Given the description of an element on the screen output the (x, y) to click on. 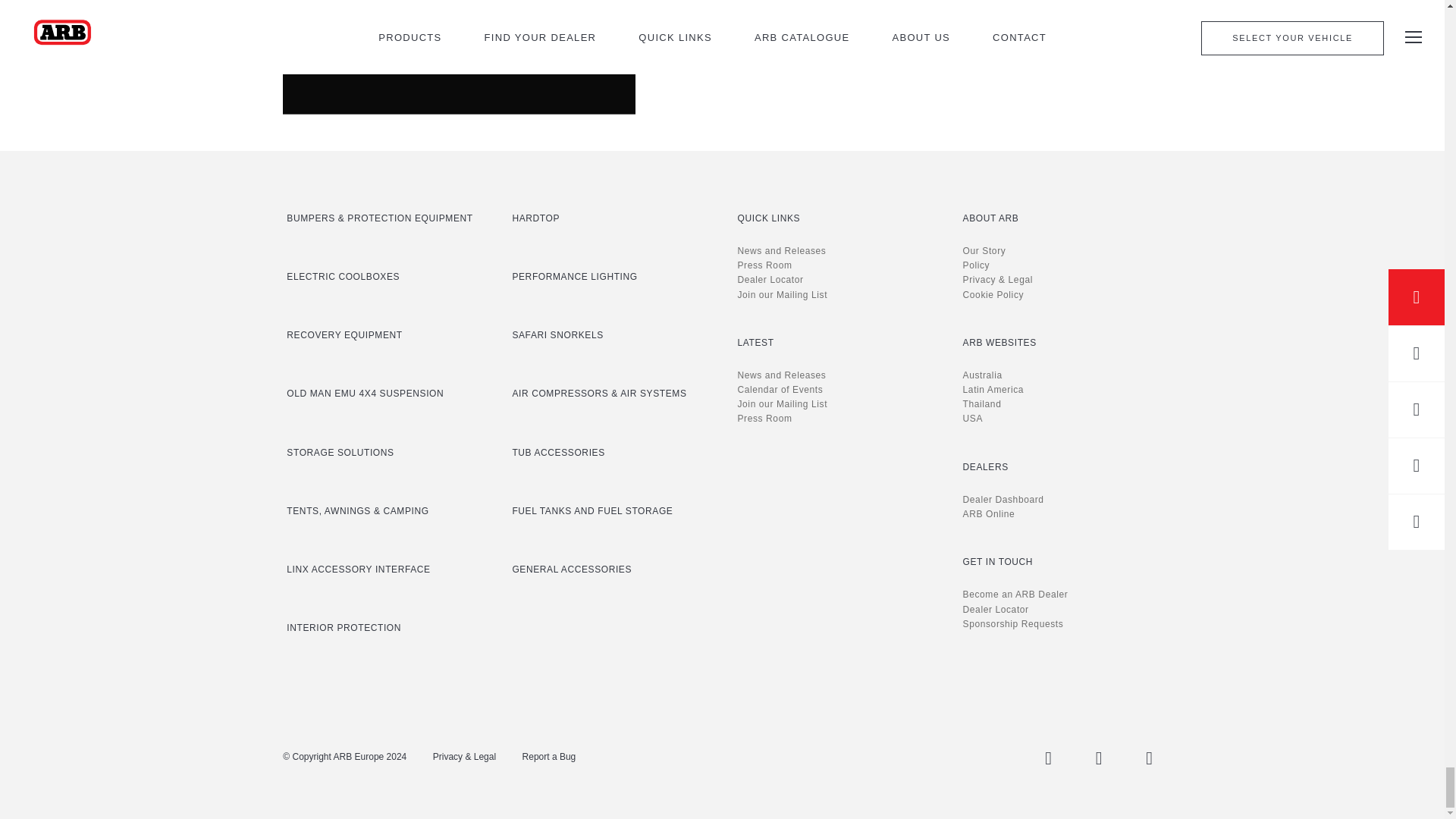
Subscribe (458, 52)
